Given the description of an element on the screen output the (x, y) to click on. 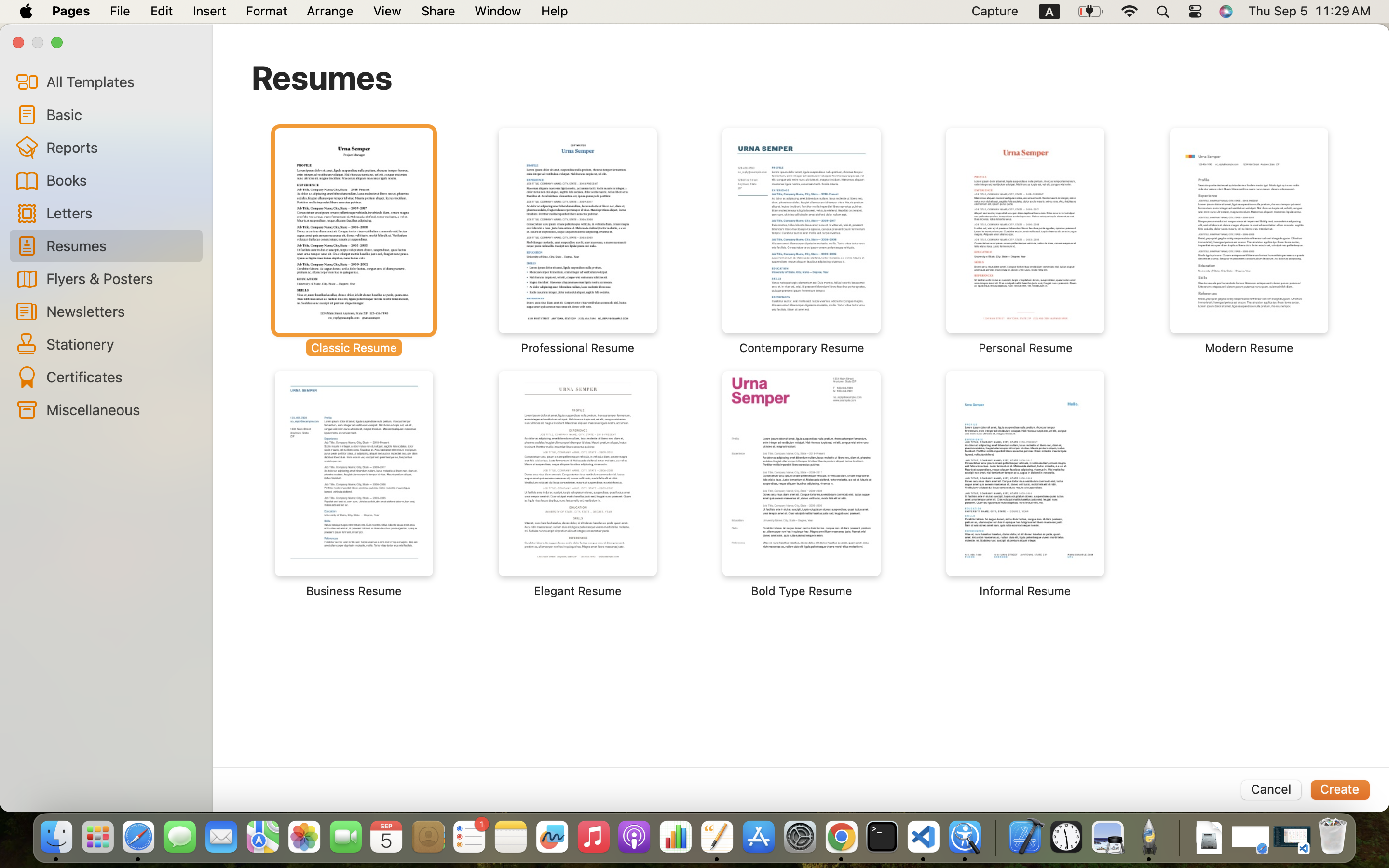
‎⁨Bold Type Resume⁩ Element type: AXButton (801, 484)
Reports Element type: AXStaticText (120, 146)
‎⁨Informal Resume⁩ Element type: AXButton (1025, 484)
‎⁨Professional Resume⁩ Element type: AXButton (577, 241)
